Given the description of an element on the screen output the (x, y) to click on. 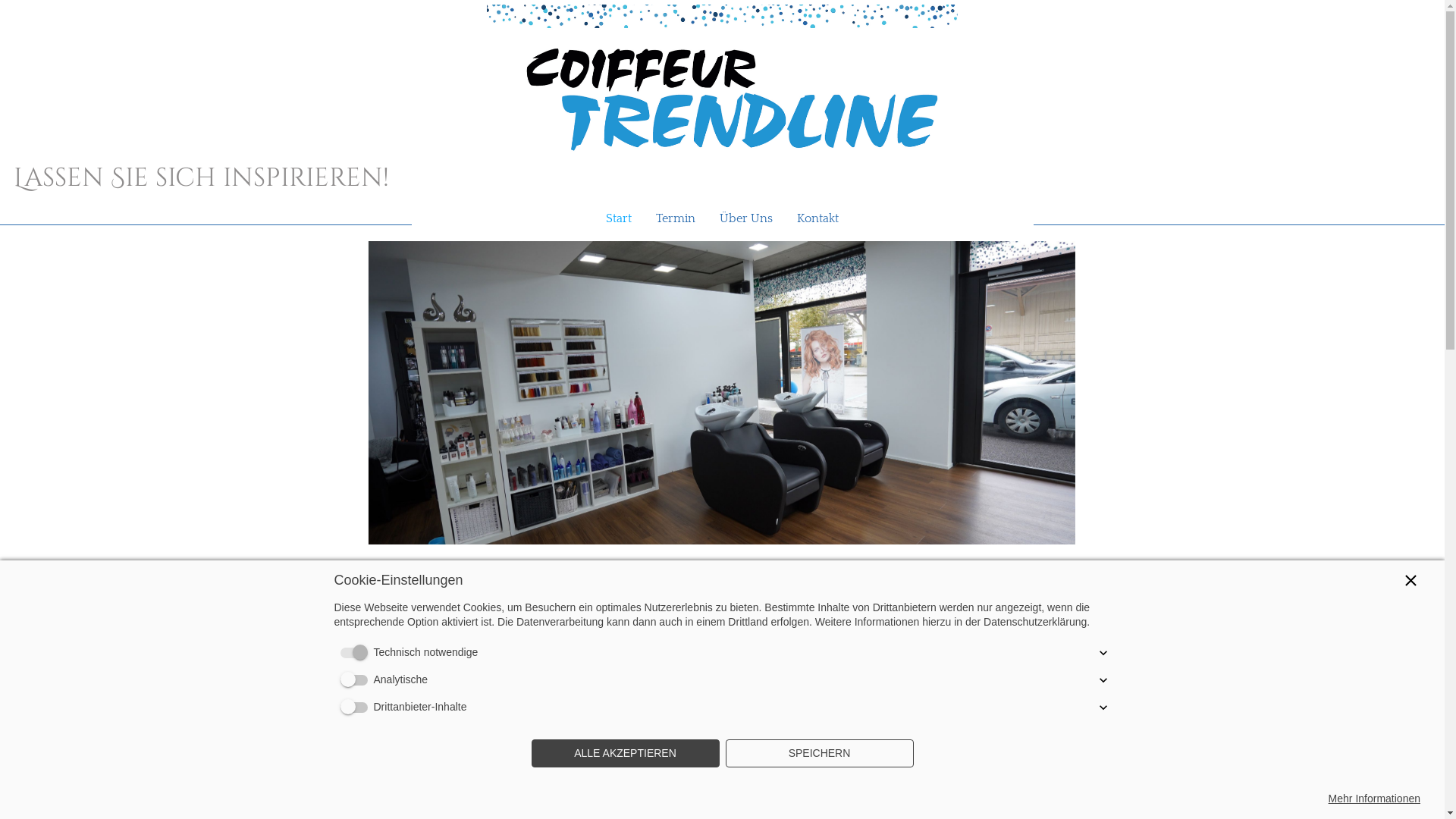
SPEICHERN Element type: text (818, 753)
Termin Buchen Element type: text (721, 643)
Start Element type: text (612, 218)
Kontakt Element type: text (823, 218)
Termin Element type: text (675, 218)
ALLE AKZEPTIEREN Element type: text (624, 753)
Mehr Informationen Element type: text (1374, 798)
